Given the description of an element on the screen output the (x, y) to click on. 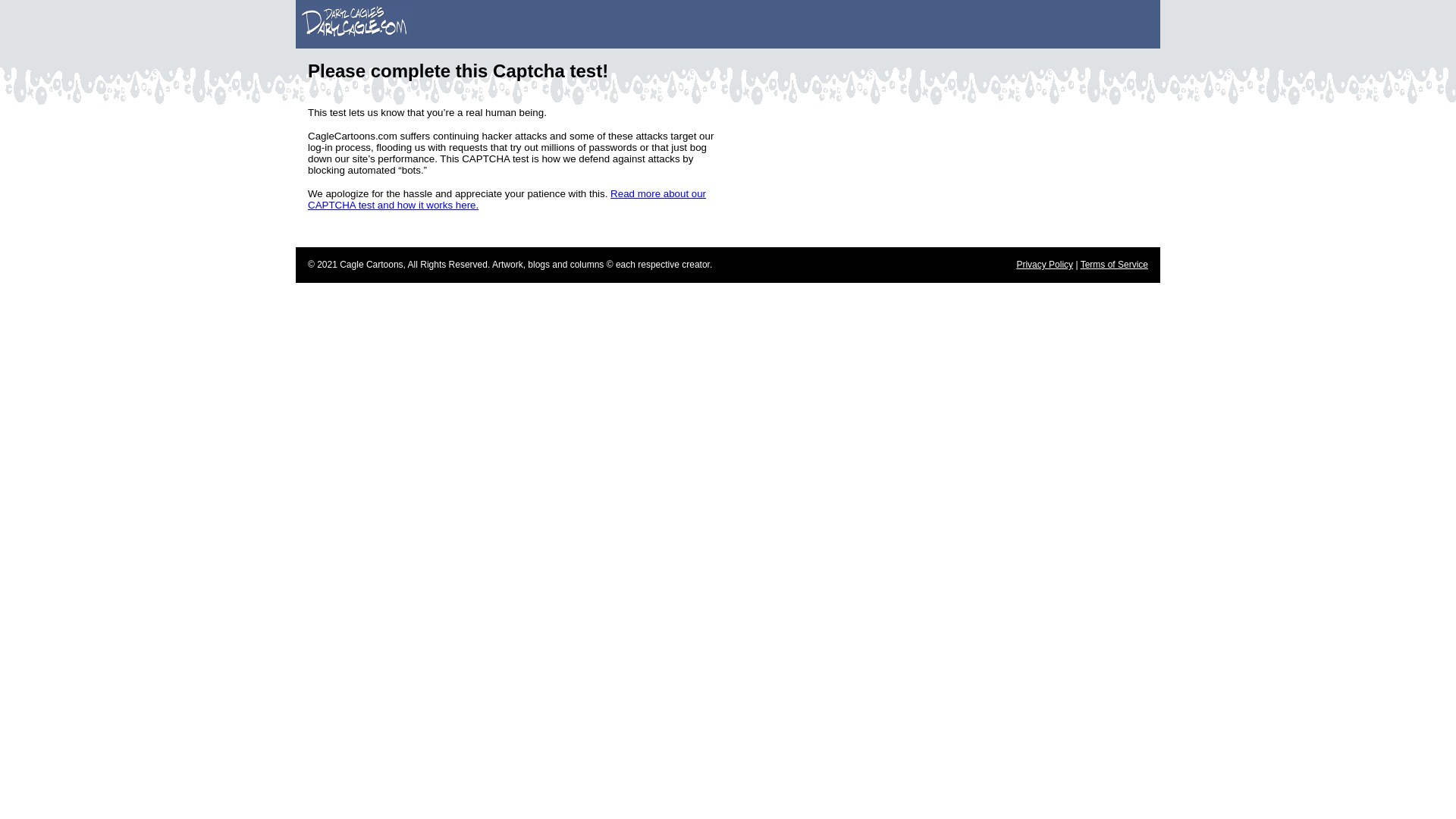
Terms of Service (1114, 264)
Privacy Policy (1044, 264)
Read more about our CAPTCHA test and how it works here. (506, 199)
